Given the description of an element on the screen output the (x, y) to click on. 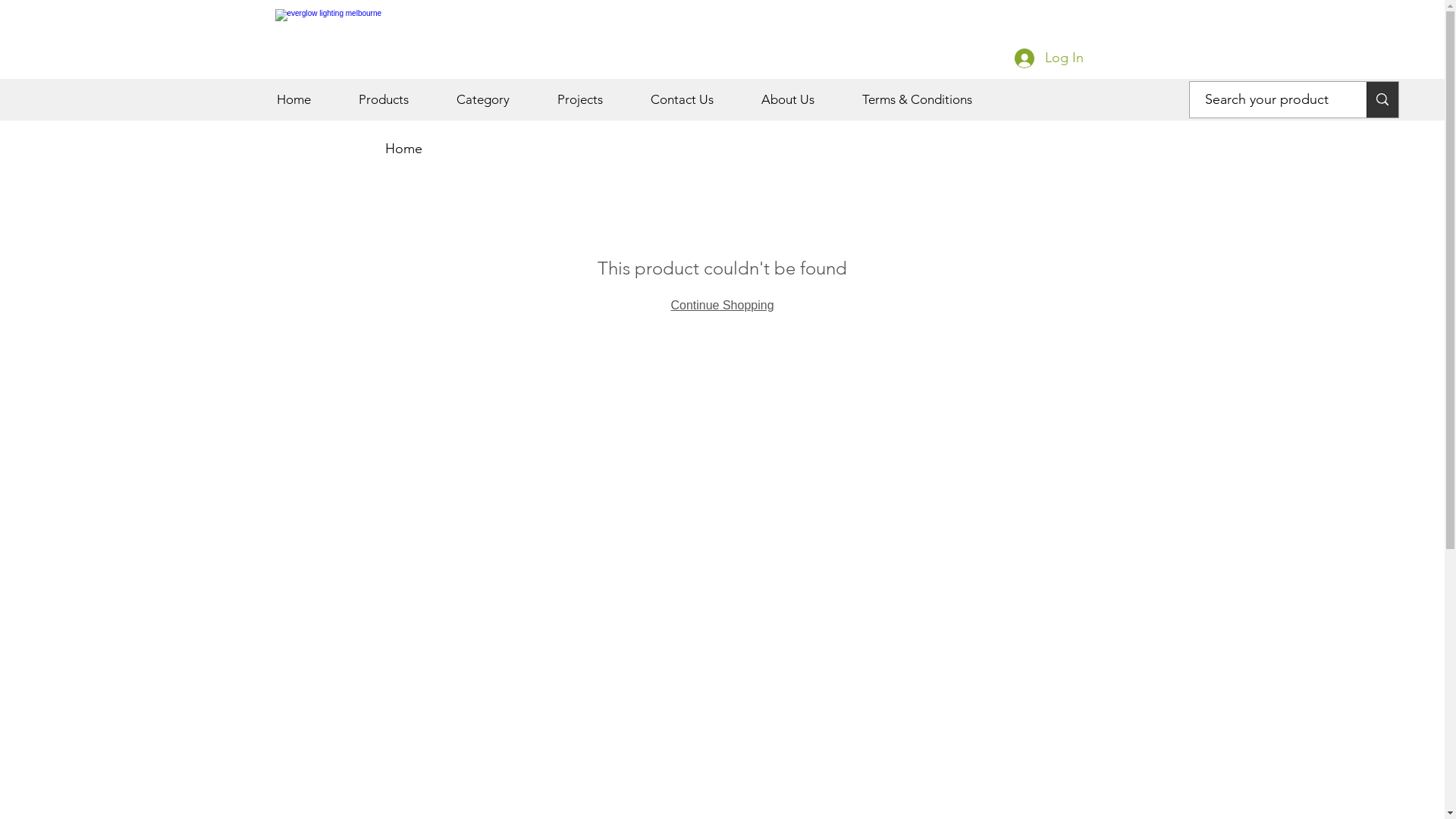
Home Element type: text (403, 148)
Category Element type: text (498, 99)
Projects Element type: text (595, 99)
Log In Element type: text (1049, 58)
Continue Shopping Element type: text (721, 304)
Products Element type: text (399, 99)
Home Element type: text (309, 99)
Contact Us Element type: text (698, 99)
Terms & Conditions Element type: text (932, 99)
About Us Element type: text (803, 99)
